Given the description of an element on the screen output the (x, y) to click on. 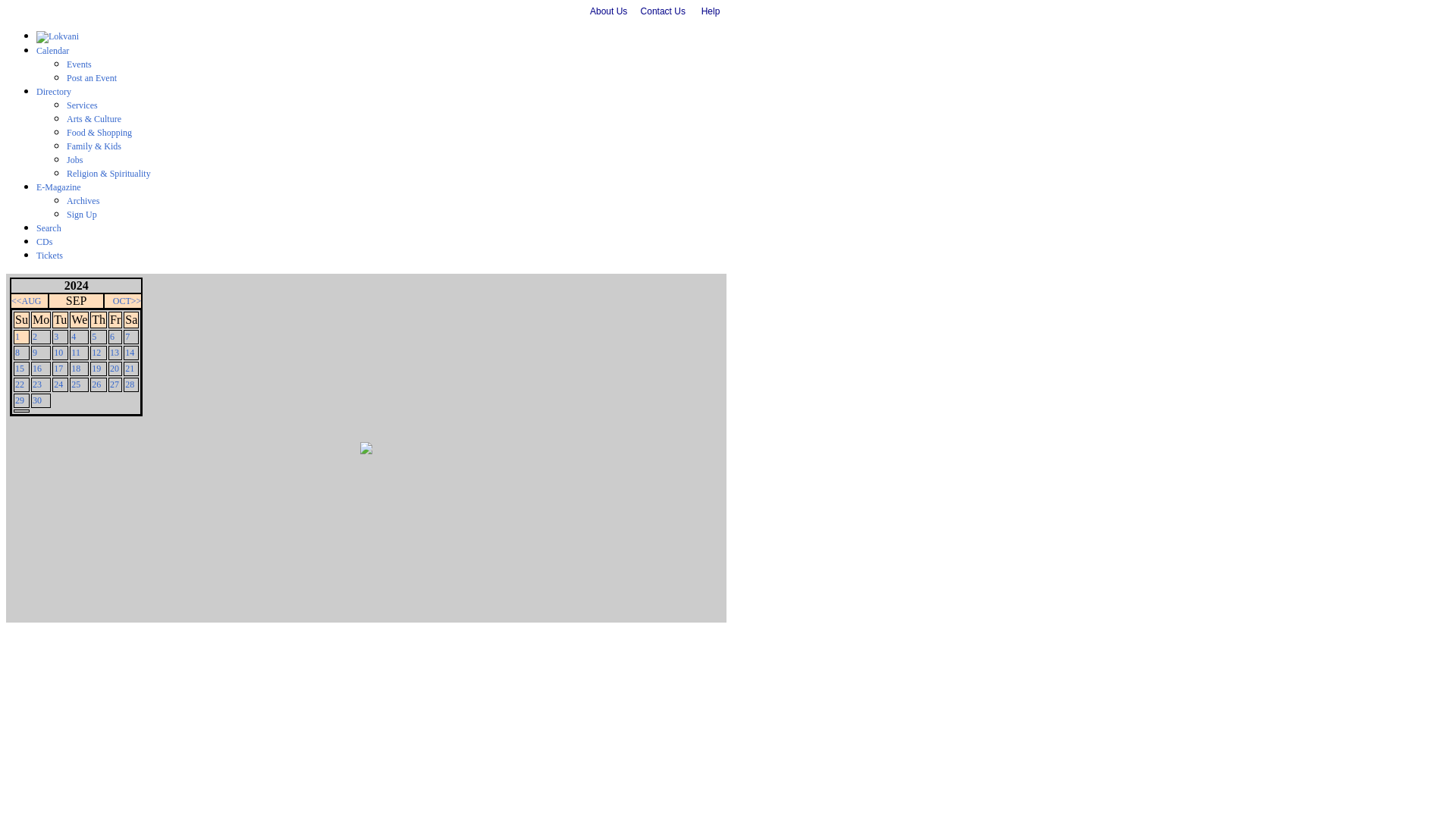
About Us (608, 10)
Tickets (49, 255)
Calendar (52, 50)
E-Magazine (58, 186)
Services (81, 104)
Directory (53, 91)
Help (710, 10)
Post an Event (91, 77)
Archives (82, 200)
Events (78, 63)
